Given the description of an element on the screen output the (x, y) to click on. 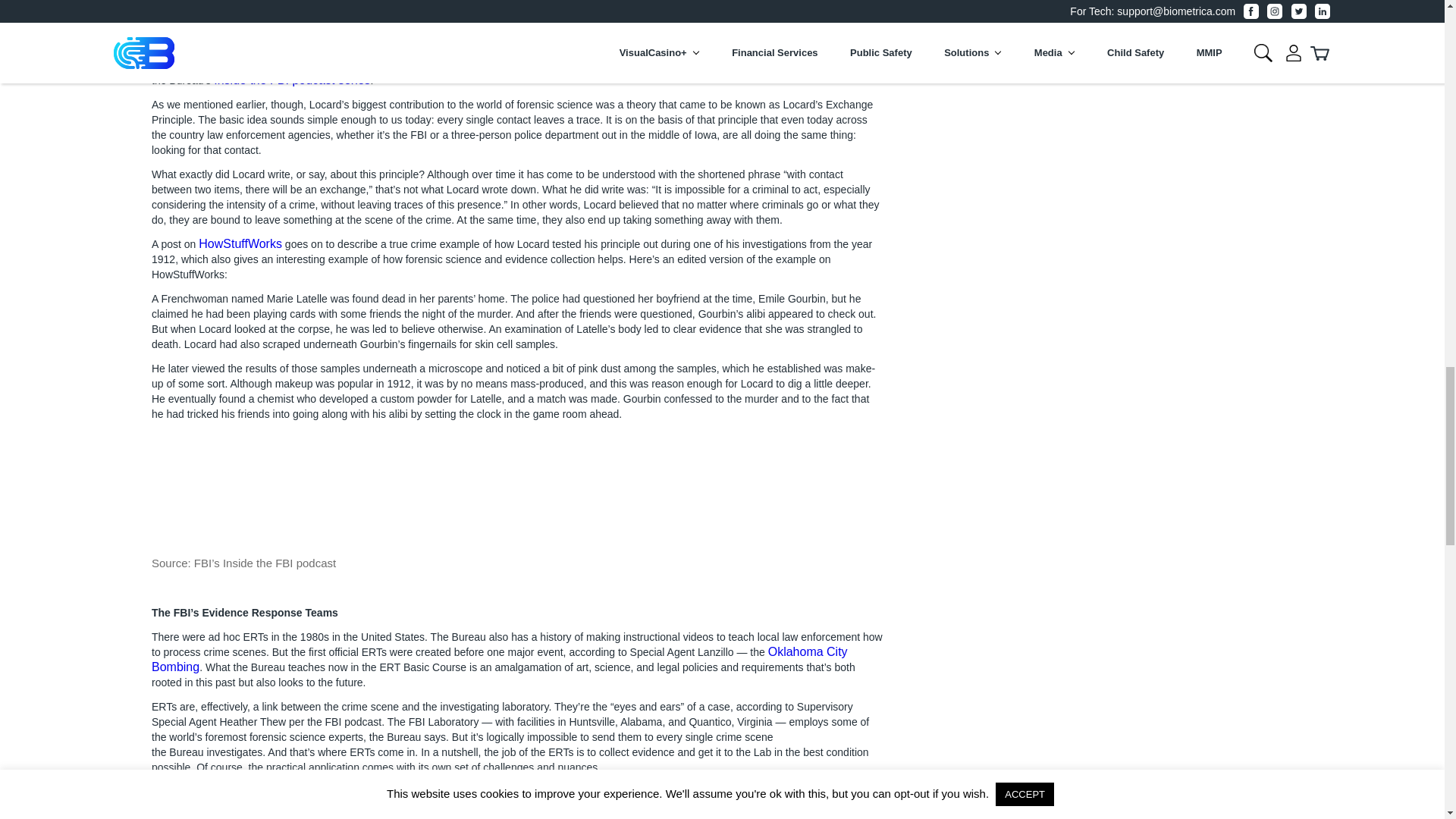
Spotify Embed: Evidence Response Teams (517, 488)
Oklahoma City Bombing (499, 659)
HowStuffWorks (240, 243)
Inside the FBI podcast series (291, 79)
